Given the description of an element on the screen output the (x, y) to click on. 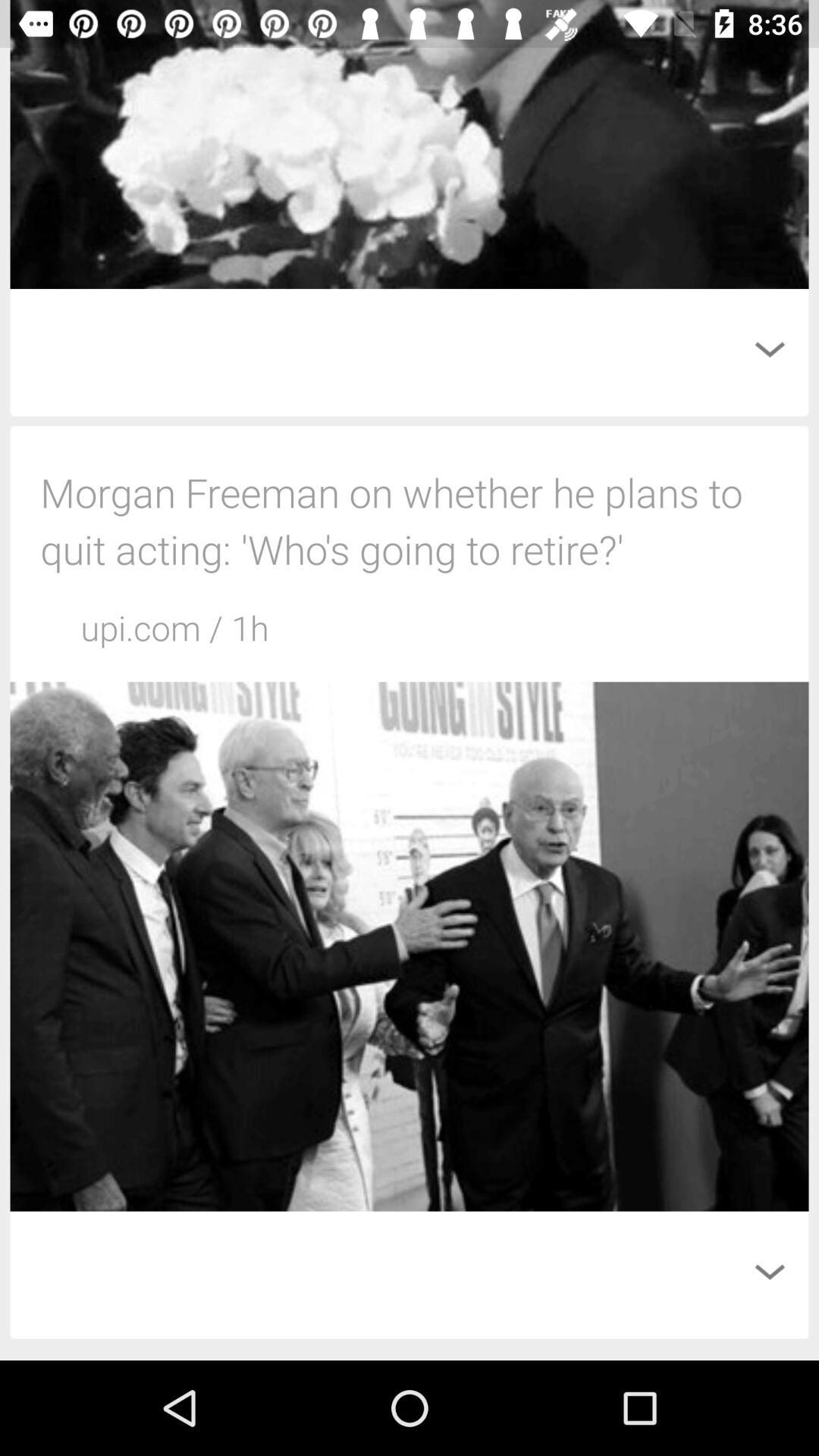
click on the drop down button at top of the page (769, 348)
select the second image (409, 946)
